Given the description of an element on the screen output the (x, y) to click on. 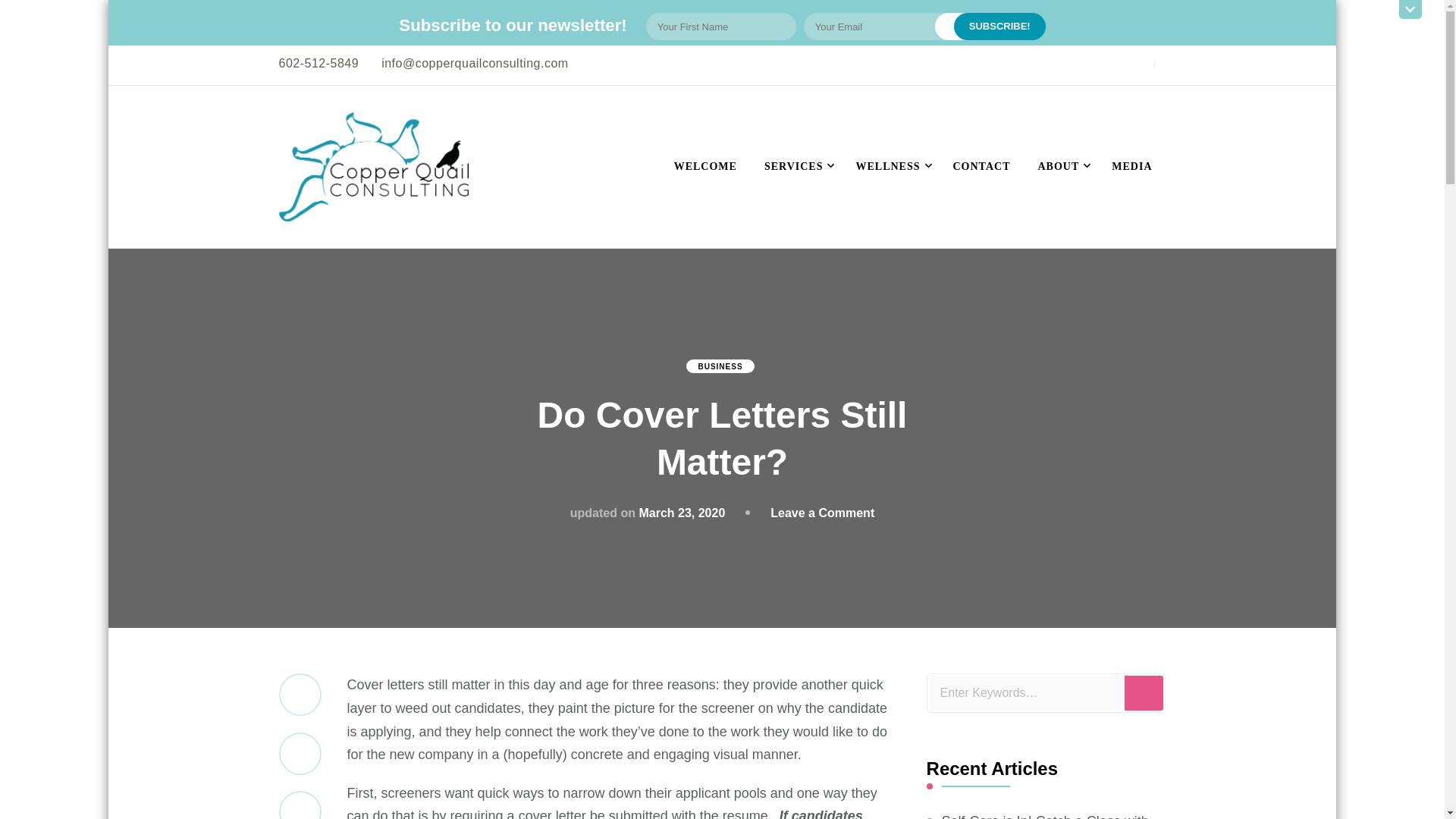
Search (1143, 692)
MEDIA (1131, 166)
602-512-5849 (319, 62)
CONTACT (981, 166)
SERVICES (797, 166)
Subscribe! (999, 26)
Subscribe! (999, 26)
Copper Quail Consulting (462, 128)
WELLNESS (890, 166)
Search (1143, 692)
